Given the description of an element on the screen output the (x, y) to click on. 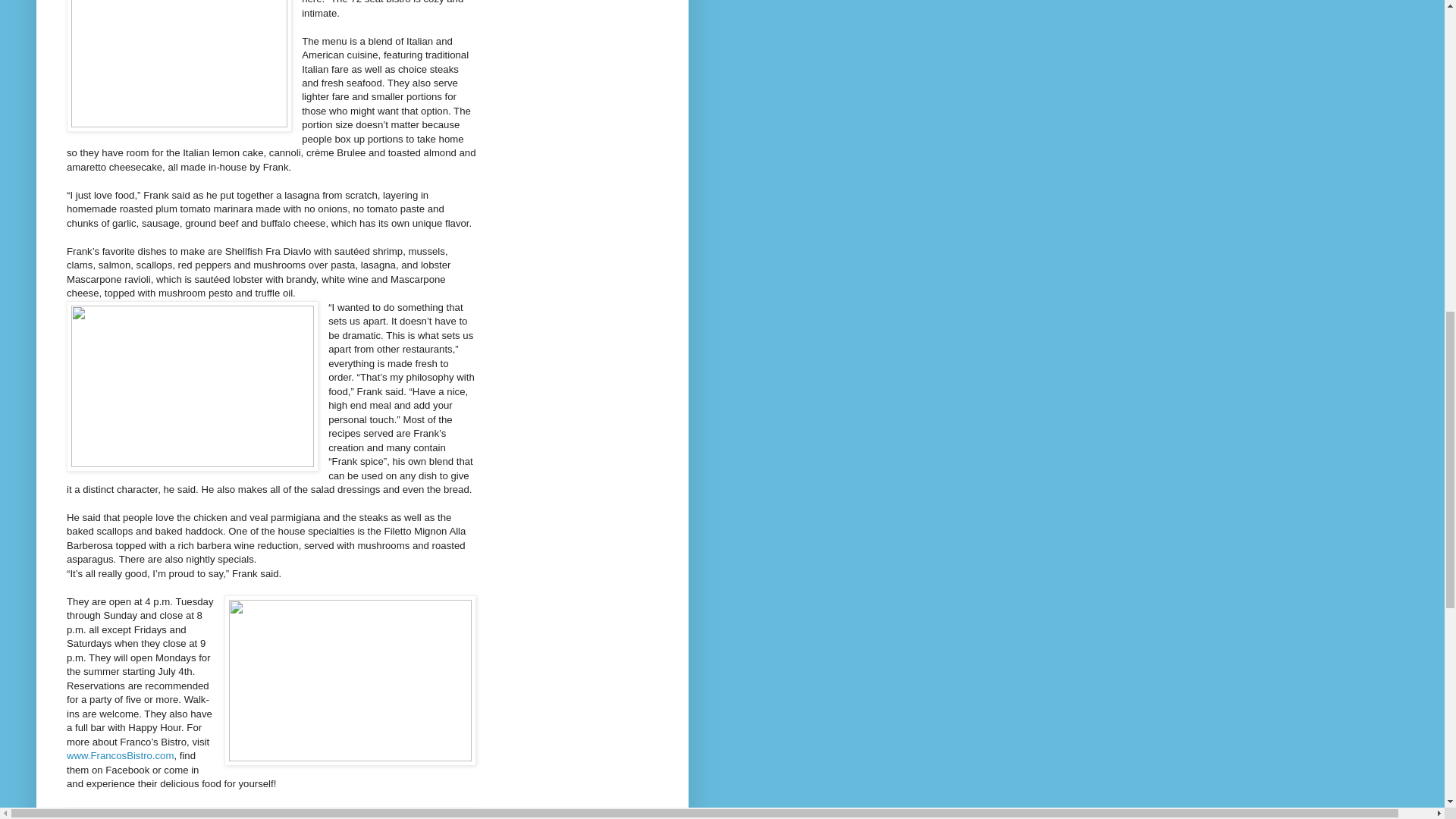
Michelle Libby (138, 817)
www.FrancosBistro.com (119, 755)
author profile (138, 817)
permanent link (188, 817)
